Given the description of an element on the screen output the (x, y) to click on. 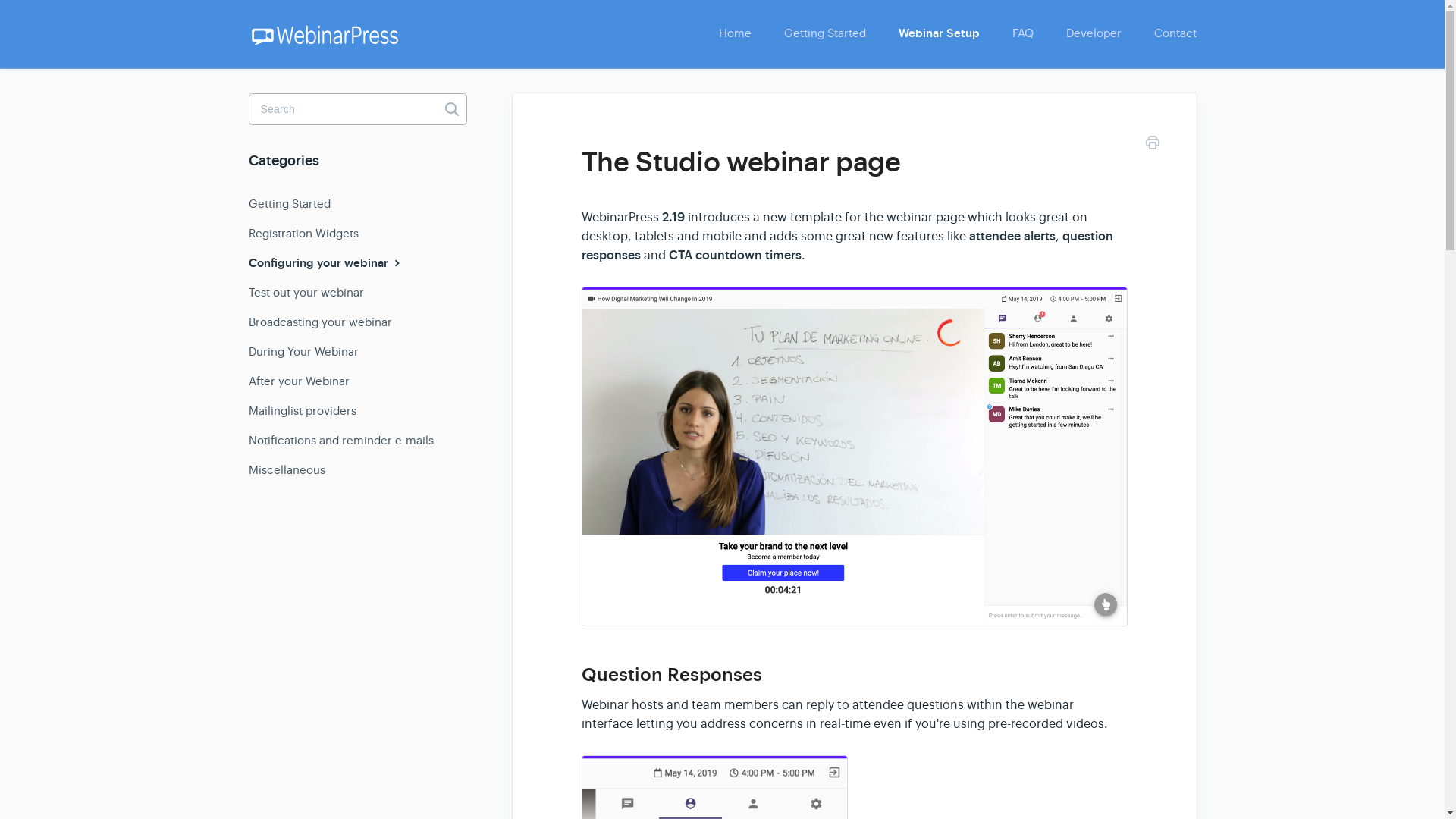
search-query (357, 109)
Toggle Search (451, 109)
Home (735, 33)
Registration Widgets (308, 233)
Getting Started (295, 203)
FAQ (1021, 33)
Getting Started (824, 33)
Mailinglist providers (308, 411)
Webinar Setup (938, 33)
Broadcasting your webinar (325, 321)
Contact (1167, 33)
After your Webinar (304, 380)
Notifications and reminder e-mails (346, 440)
Developer (1094, 33)
Configuring your webinar (332, 262)
